Given the description of an element on the screen output the (x, y) to click on. 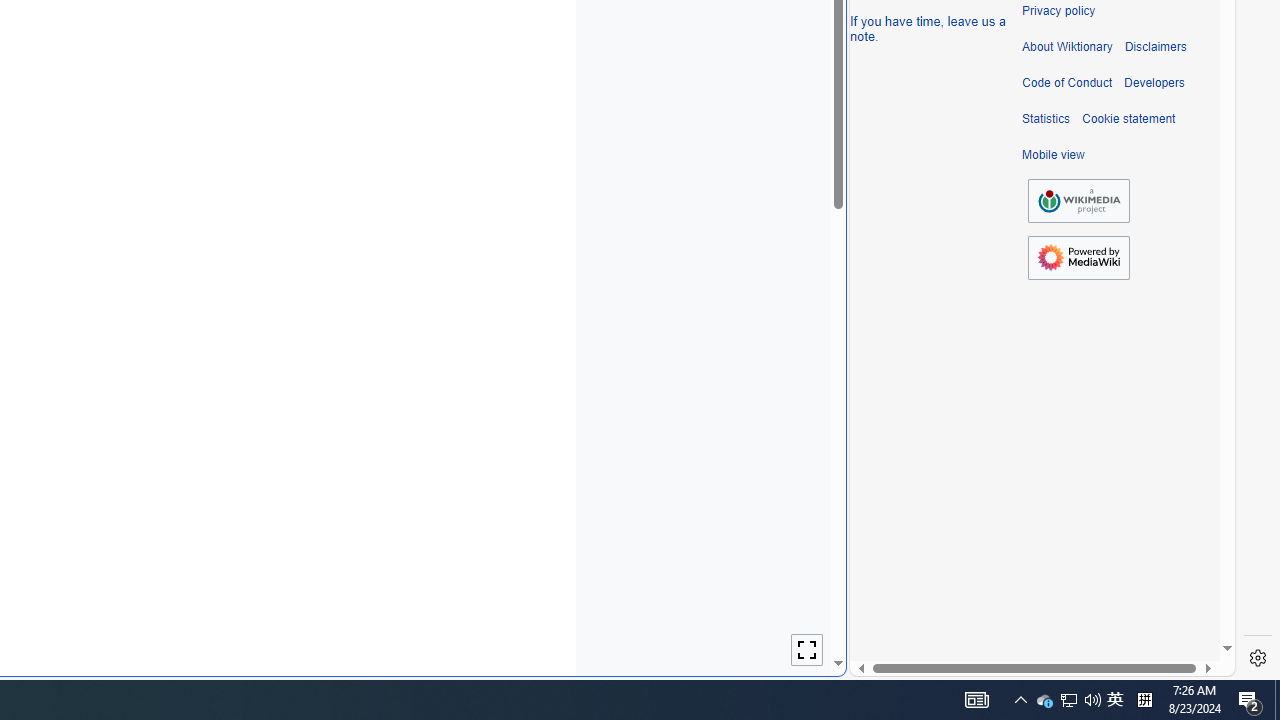
Code of Conduct (1067, 83)
Statistics (1046, 119)
Developers (1154, 83)
Mobile view (1053, 155)
Disclaimers (1154, 47)
Statistics (1046, 119)
Cookie statement (1128, 119)
Developers (1154, 83)
